Given the description of an element on the screen output the (x, y) to click on. 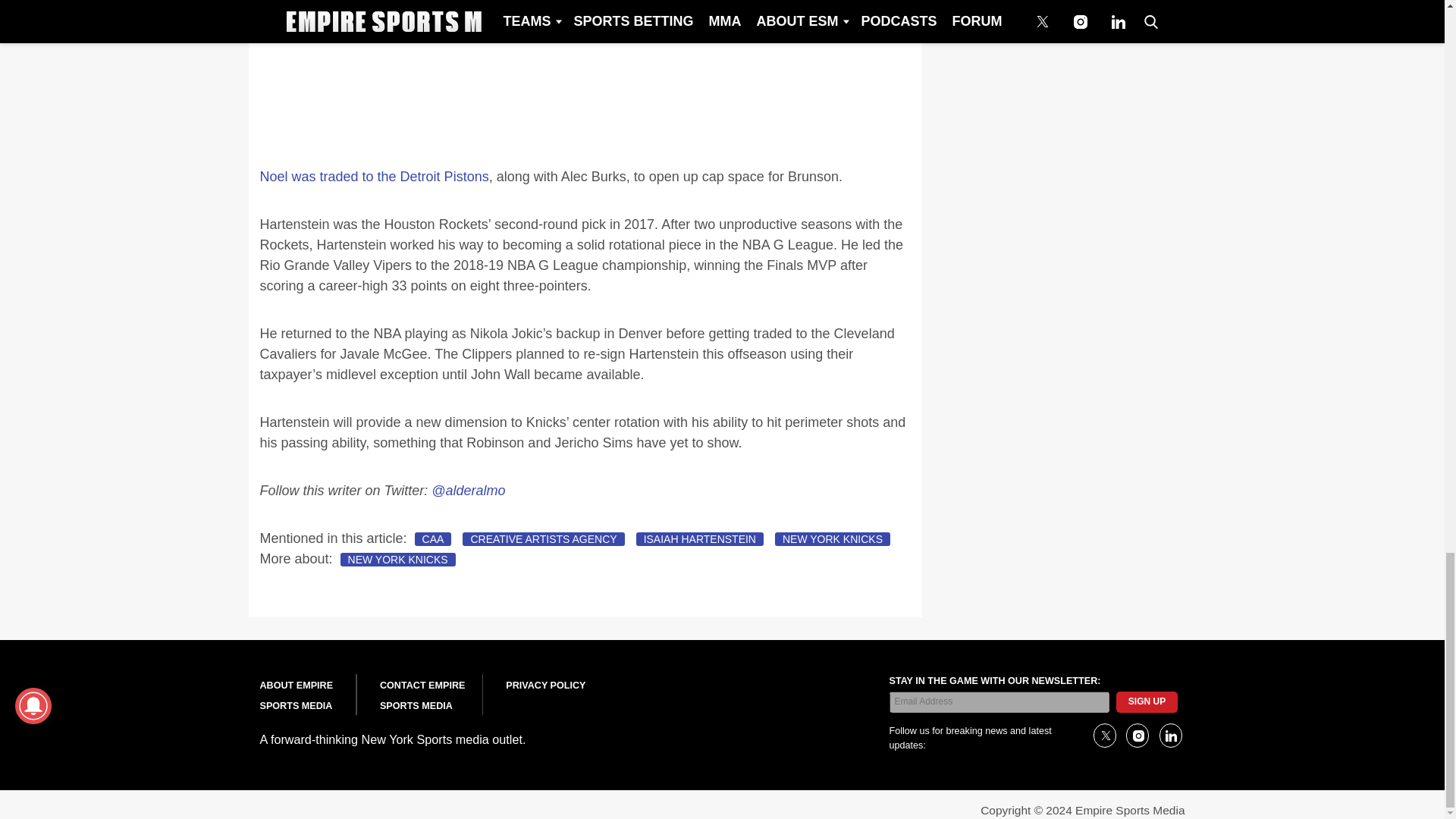
NEW YORK KNICKS (831, 539)
NEW YORK KNICKS (397, 559)
CREATIVE ARTISTS AGENCY (543, 539)
ISAIAH HARTENSTEIN (699, 539)
CAA (432, 539)
Noel was traded to the Detroit Pistons (373, 176)
